Given the description of an element on the screen output the (x, y) to click on. 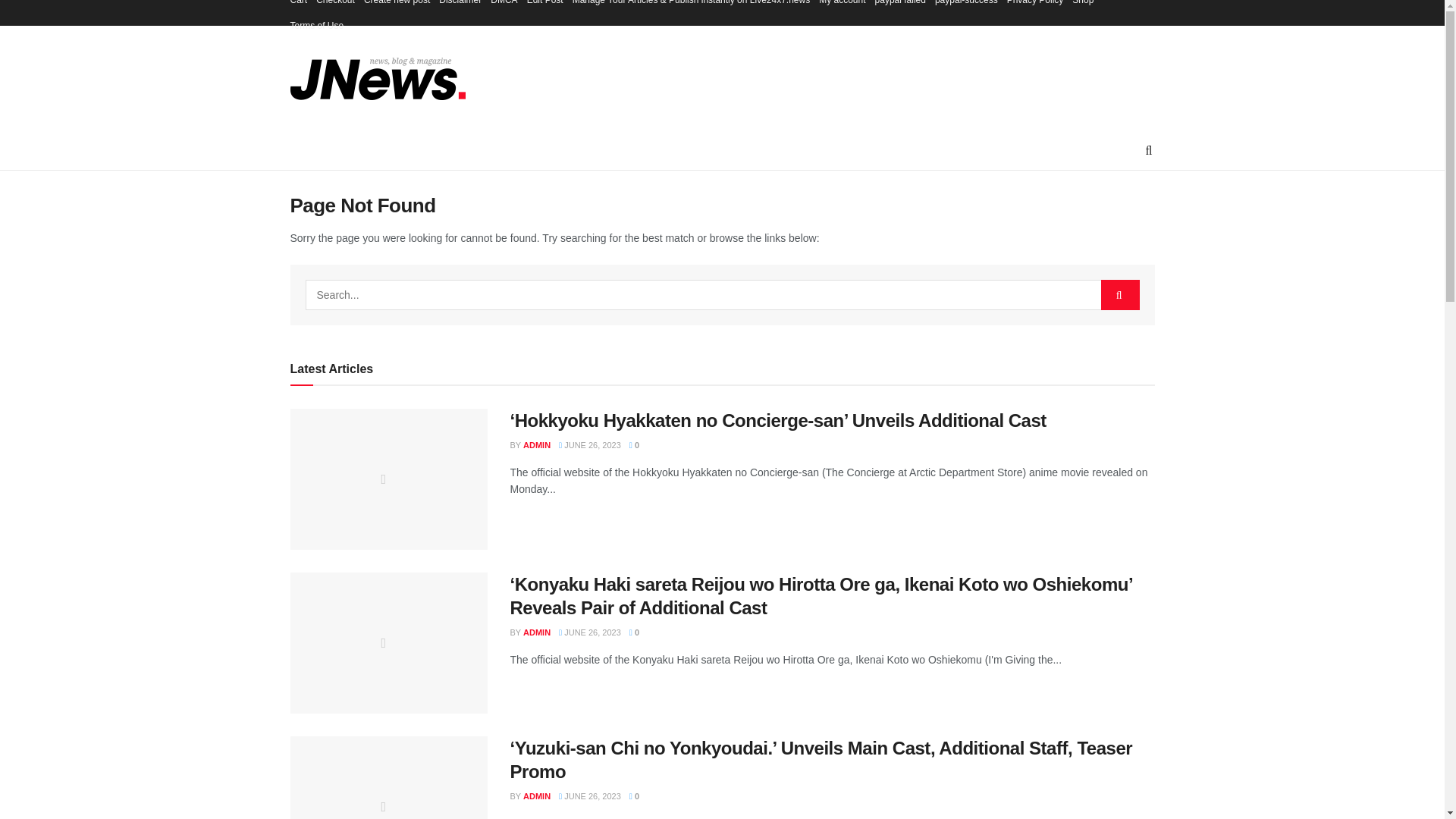
DMCA (503, 6)
My account (841, 6)
paypal failed (900, 6)
Create new post (396, 6)
Edit Post (545, 6)
Terms of Use (316, 25)
Disclaimer (460, 6)
Privacy Policy (1035, 6)
paypal-success (965, 6)
Checkout (335, 6)
